Given the description of an element on the screen output the (x, y) to click on. 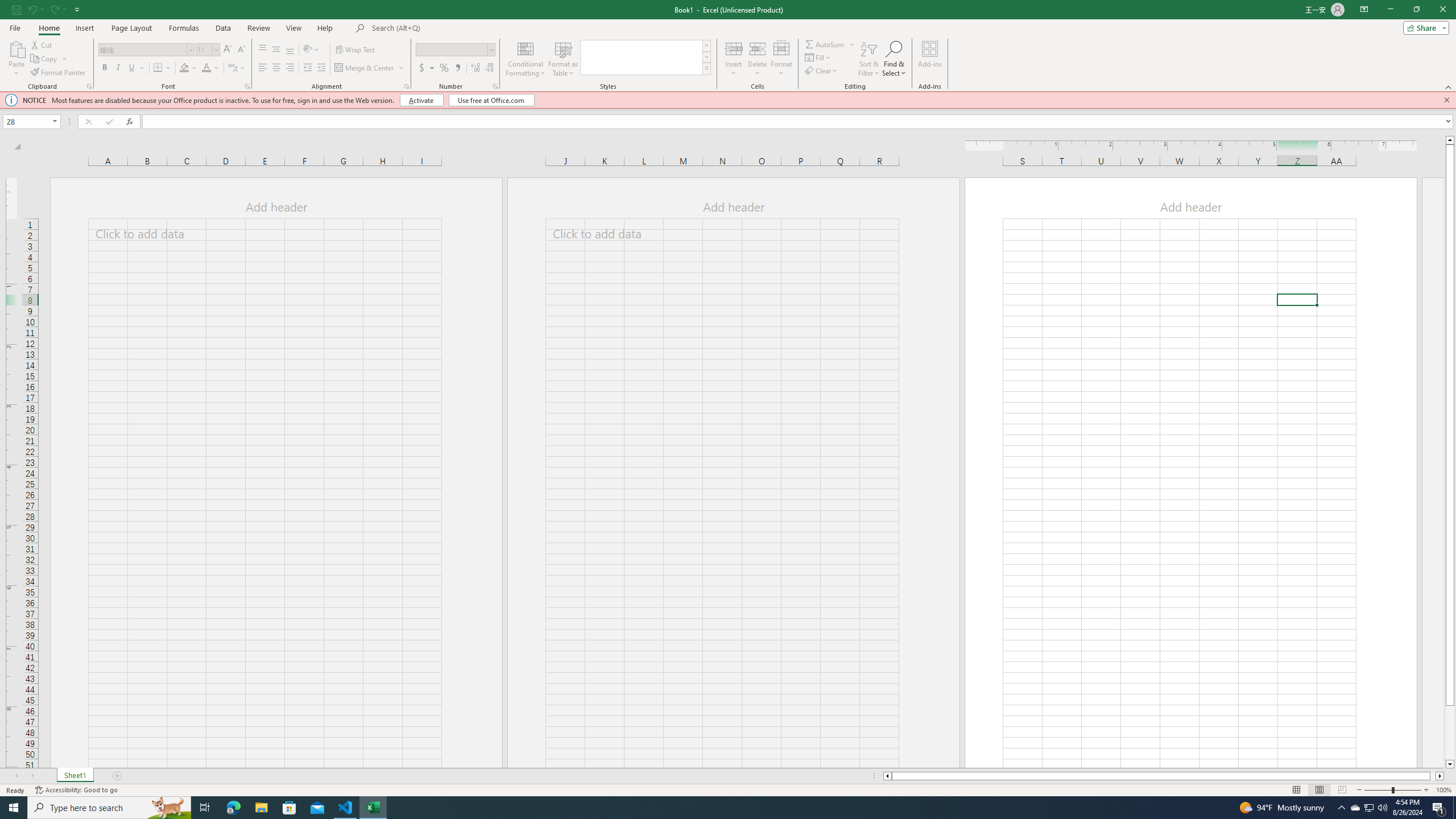
Show Phonetic Field (236, 67)
Decrease Decimal (489, 67)
Show Phonetic Field (231, 67)
Wrap Text (355, 49)
Font Color (210, 67)
Bottom Border (157, 67)
Align Left (262, 67)
